Given the description of an element on the screen output the (x, y) to click on. 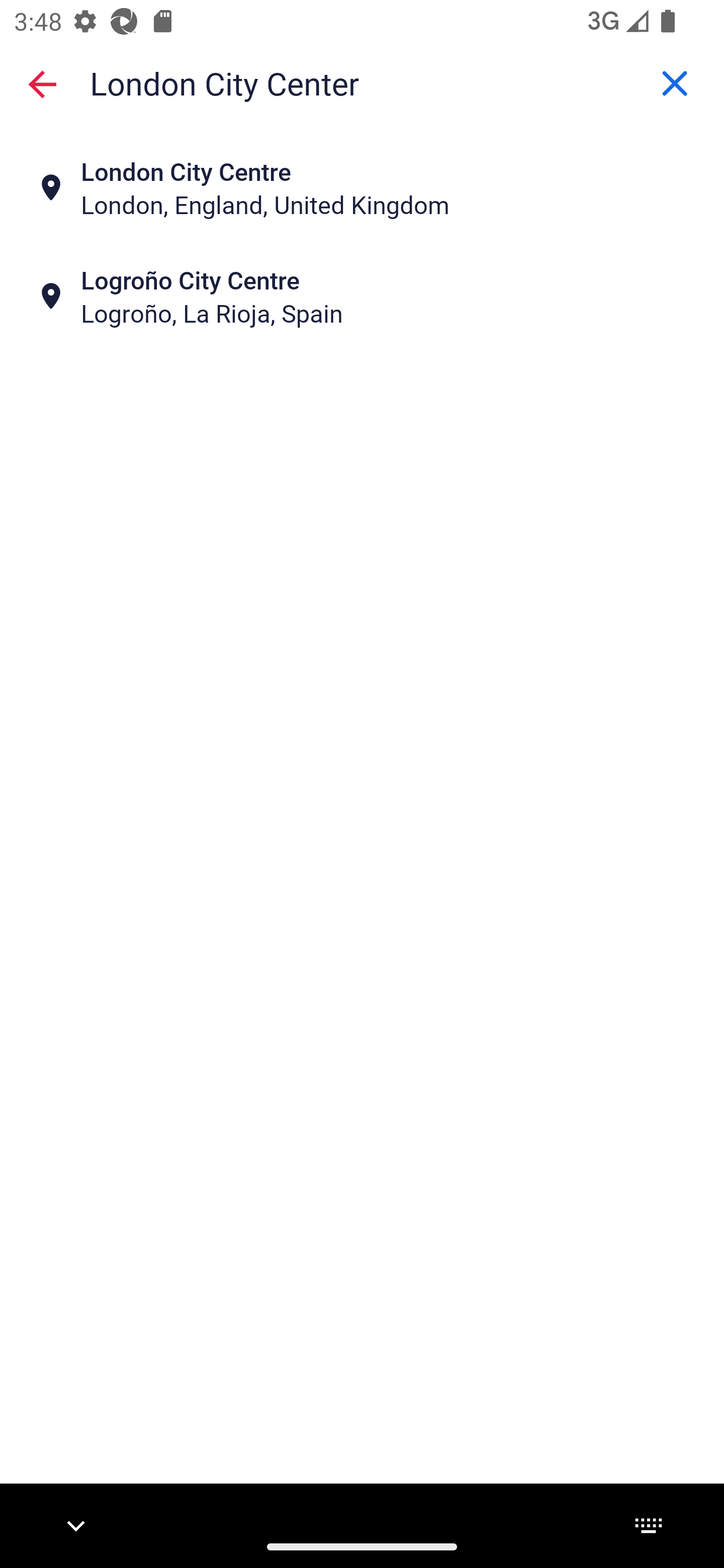
Clear Pick-up (674, 82)
Pick-up, London City Center (361, 82)
Close search screen (41, 83)
